Given the description of an element on the screen output the (x, y) to click on. 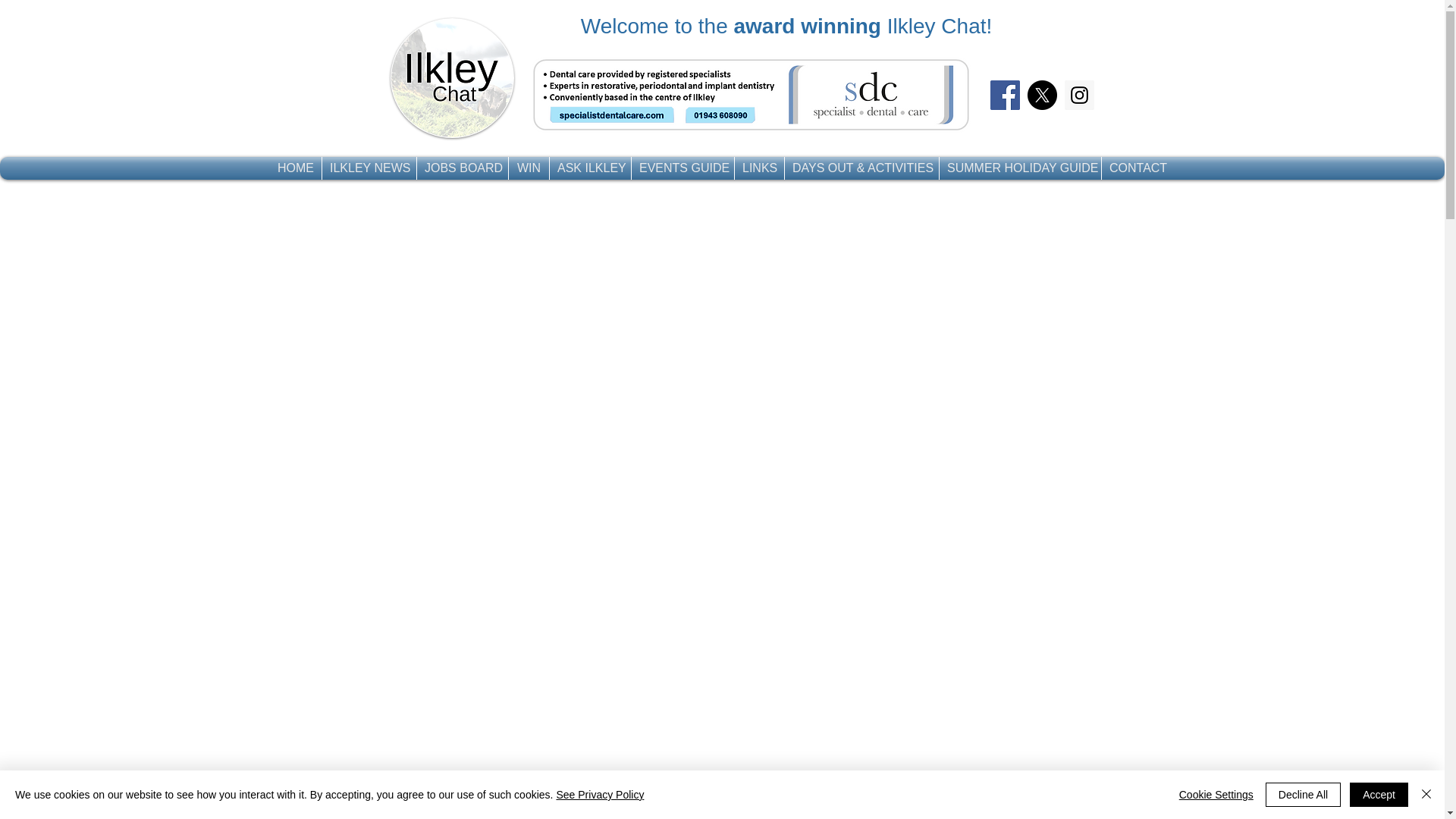
ASK ILKLEY (590, 168)
HOME (295, 168)
LINKS (759, 168)
Decline All (1302, 794)
WIN (528, 168)
SUMMER HOLIDAY GUIDE (1019, 168)
Accept (1378, 794)
EVENTS GUIDE (682, 168)
CONTACT (1138, 168)
JOBS BOARD (462, 168)
See Privacy Policy (599, 794)
